Given the description of an element on the screen output the (x, y) to click on. 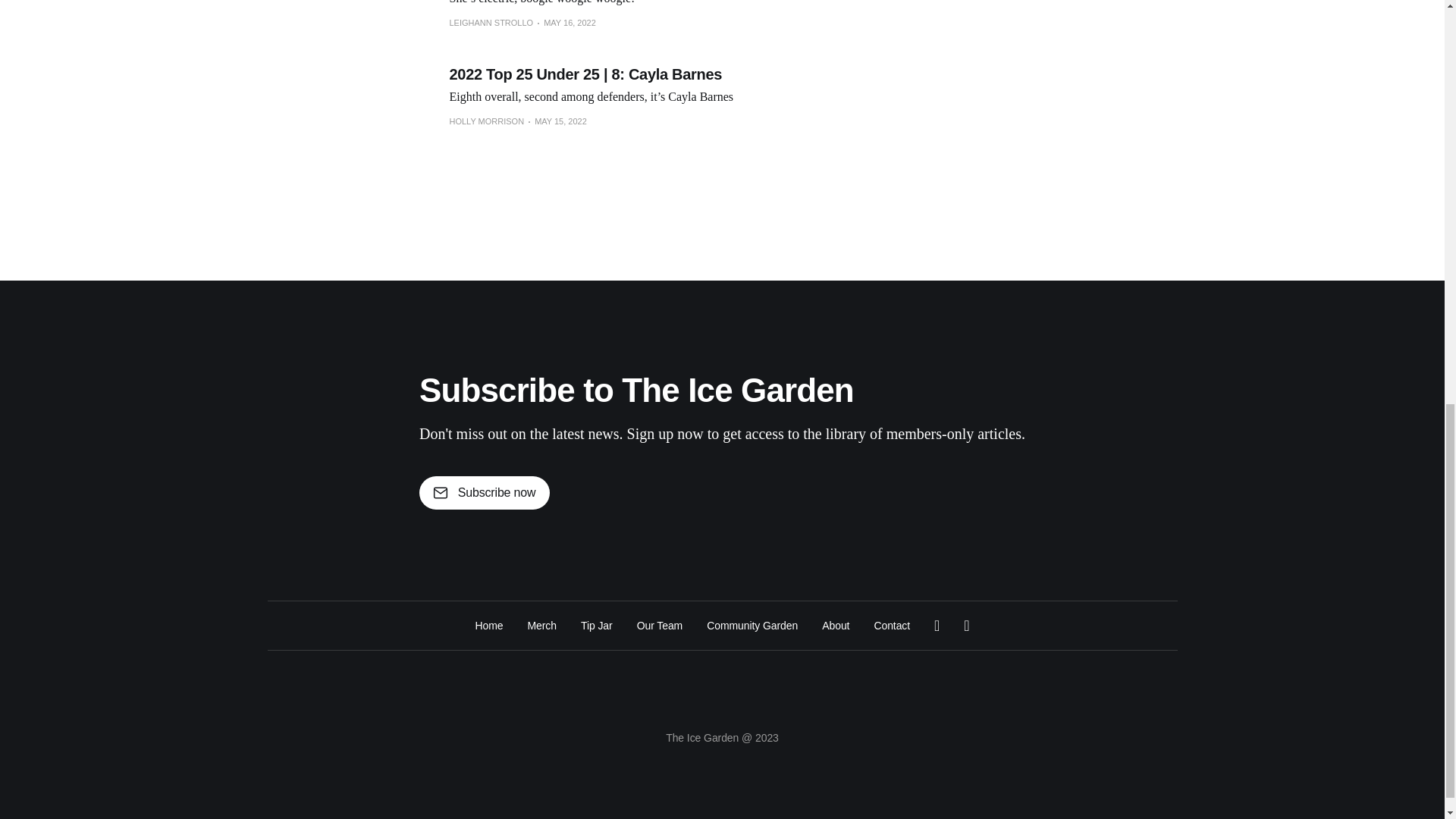
Home (488, 625)
Community Garden (751, 625)
About (835, 625)
Our Team (659, 625)
Merch (541, 625)
Contact (891, 625)
Tip Jar (596, 625)
Subscribe now (484, 492)
